Given the description of an element on the screen output the (x, y) to click on. 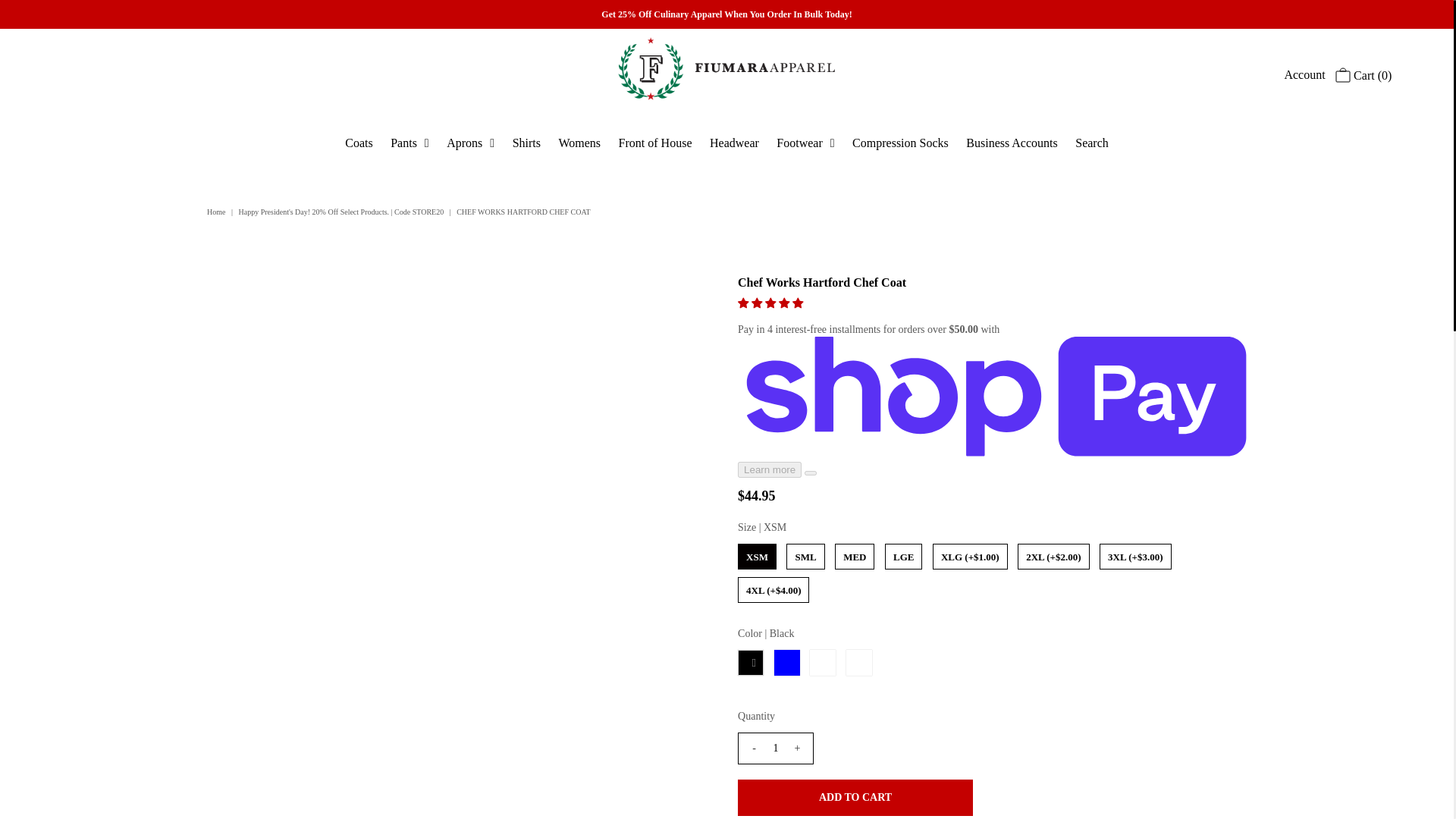
Add to Cart (855, 797)
Coats (358, 143)
Home (217, 212)
Account (1304, 74)
